Given the description of an element on the screen output the (x, y) to click on. 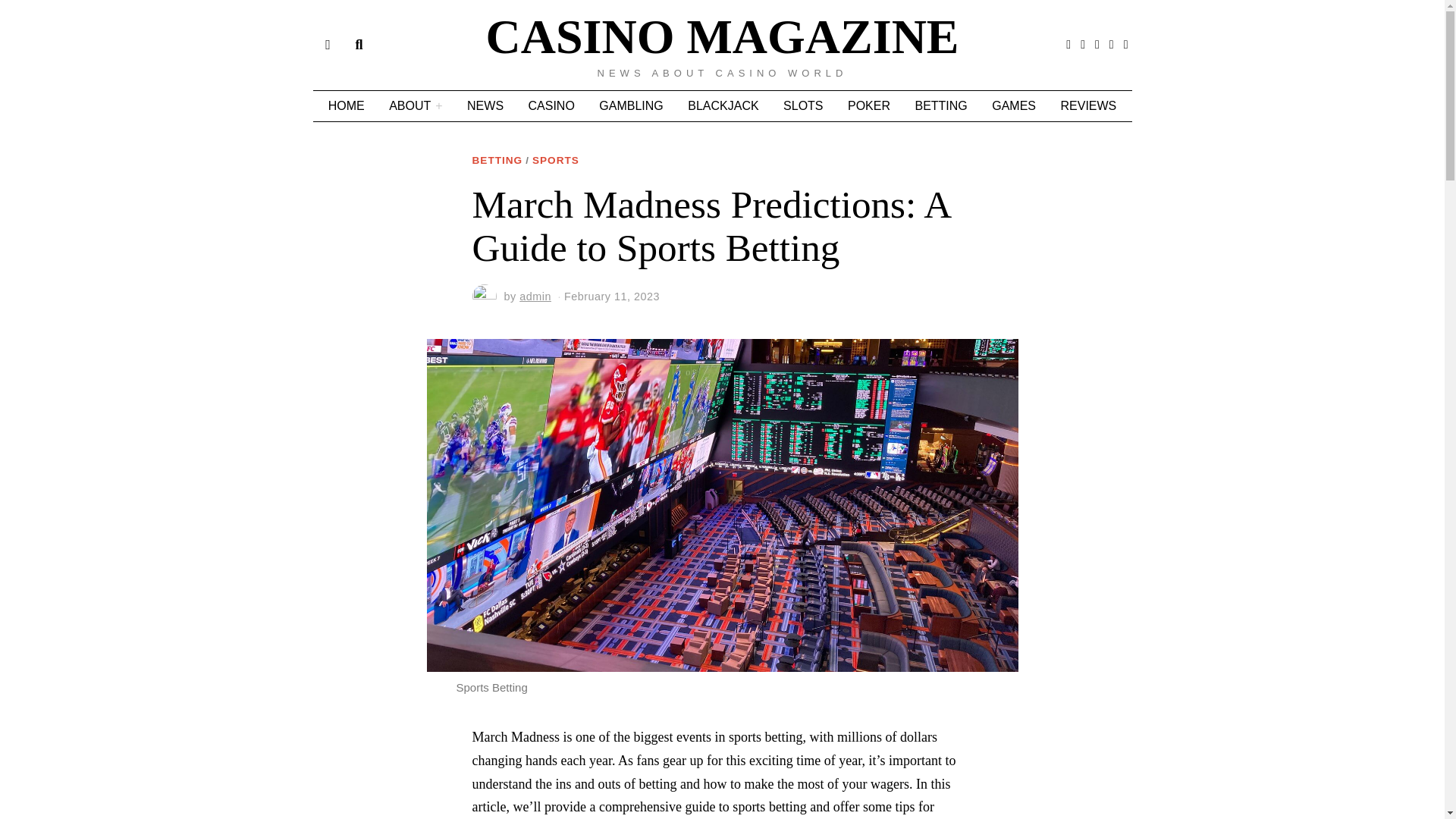
GAMES (1013, 105)
ABOUT (415, 105)
HOME (346, 105)
BLACKJACK (722, 105)
SLOTS (802, 105)
admin (535, 296)
NEWS (485, 105)
SPORTS (555, 160)
GAMBLING (630, 105)
REVIEWS (1087, 105)
POKER (869, 105)
CASINO (551, 105)
BETTING (496, 160)
CASINO MAGAZINE (722, 36)
BETTING (940, 105)
